Given the description of an element on the screen output the (x, y) to click on. 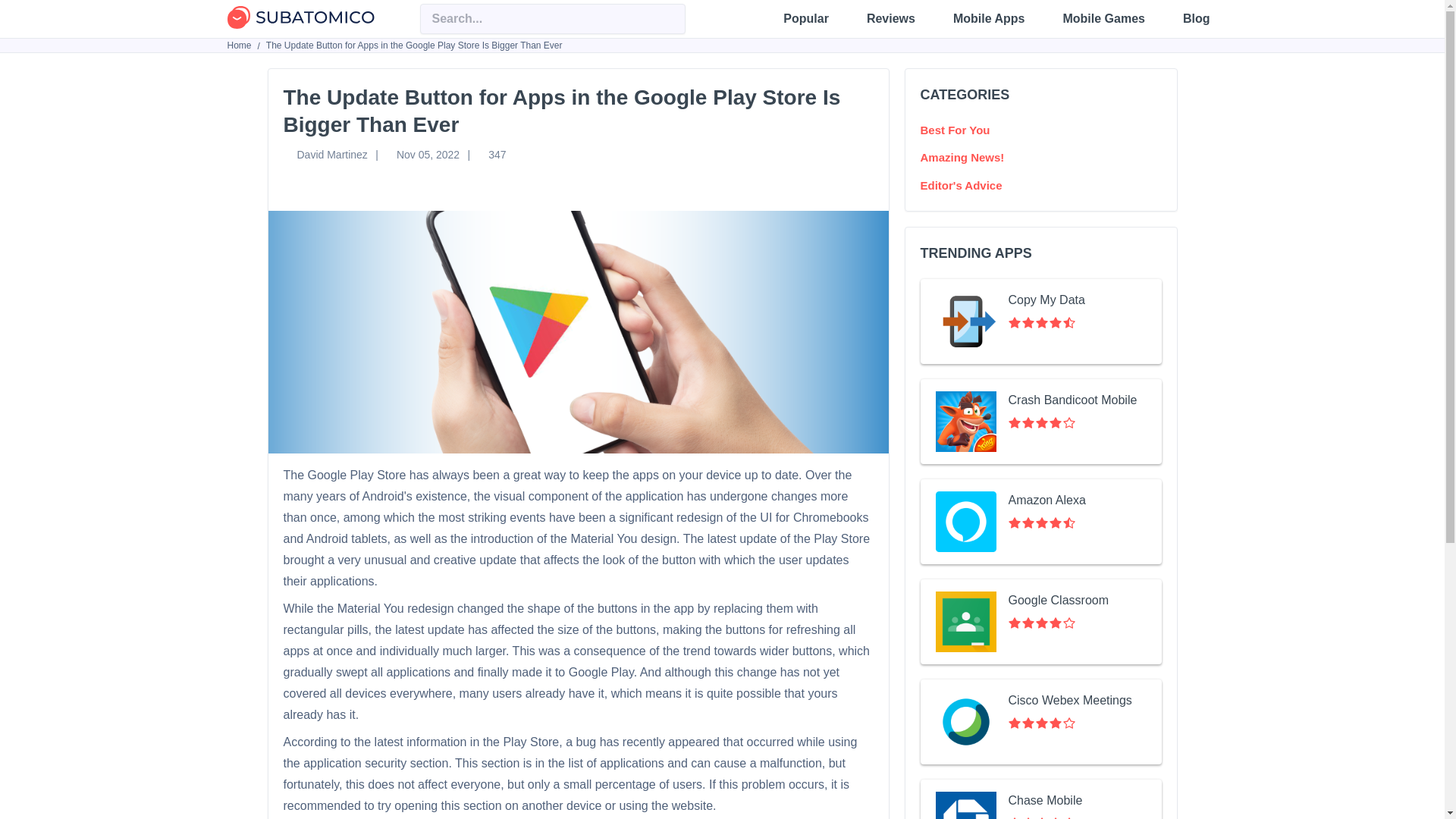
Mobile Apps (988, 18)
Reviews (891, 18)
User rating 4.3 (1042, 322)
Cisco Webex Meetings (1040, 721)
Amazon Alexa (1040, 521)
subatomico-logo-dark (300, 18)
subatomico-logo-dark (300, 16)
Popular (805, 18)
User rating 4.2 (1042, 723)
User rating 4.4 (1042, 818)
User rating 3.9 (1042, 623)
Crash Bandicoot Mobile (1040, 421)
Mobile Games (1102, 18)
Editor's Advice (961, 185)
Amazing News! (962, 156)
